Given the description of an element on the screen output the (x, y) to click on. 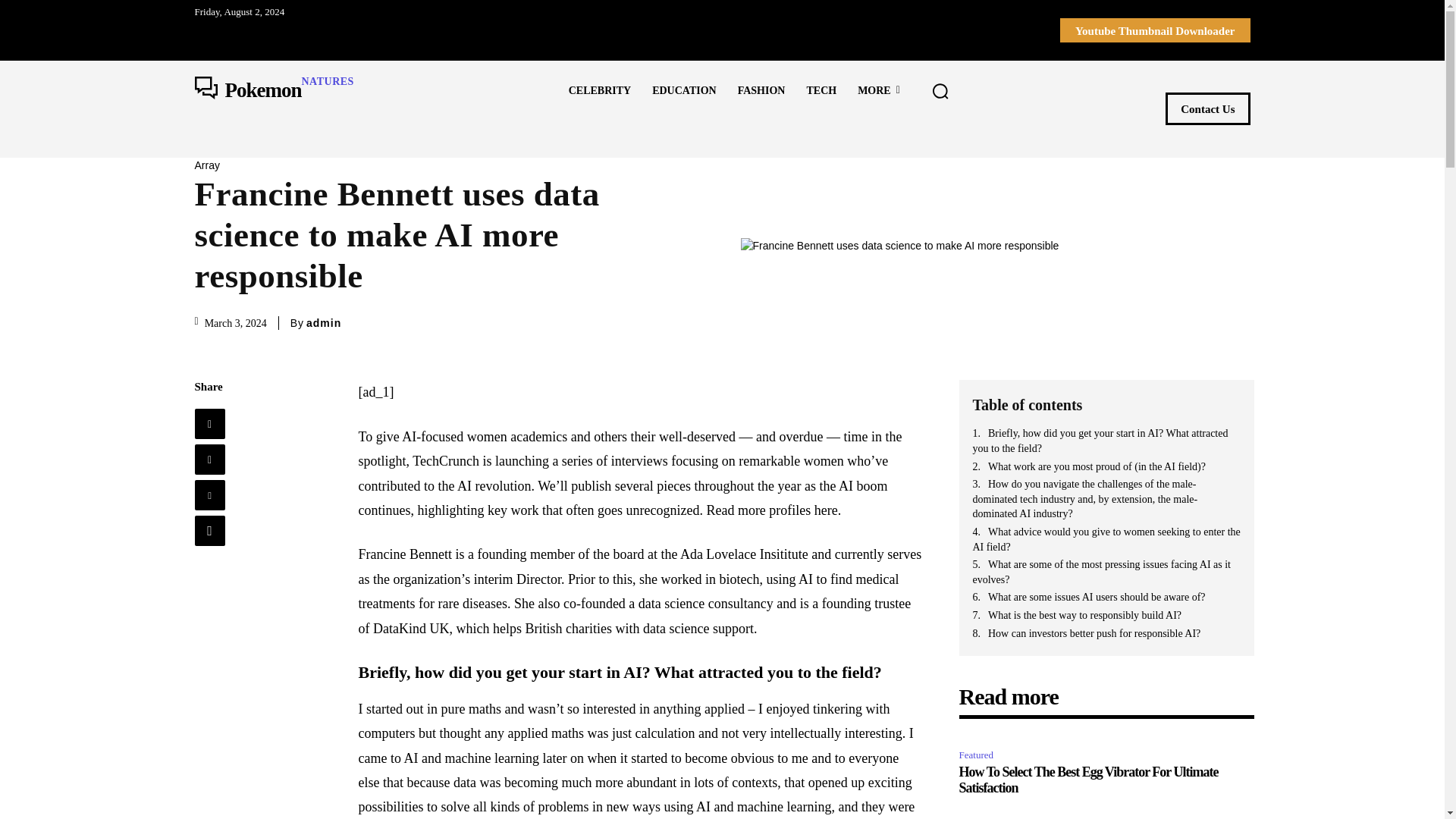
WhatsApp (208, 530)
Pinterest (208, 494)
Contact Us (1207, 108)
Youtube Thumbnail Downloader (1154, 30)
MORE (879, 90)
Contact Us (1207, 108)
FASHION (761, 90)
Facebook (208, 423)
Youtube Thumbnail Downloader (273, 90)
Twitter (1154, 30)
CELEBRITY (208, 459)
EDUCATION (599, 90)
